Given the description of an element on the screen output the (x, y) to click on. 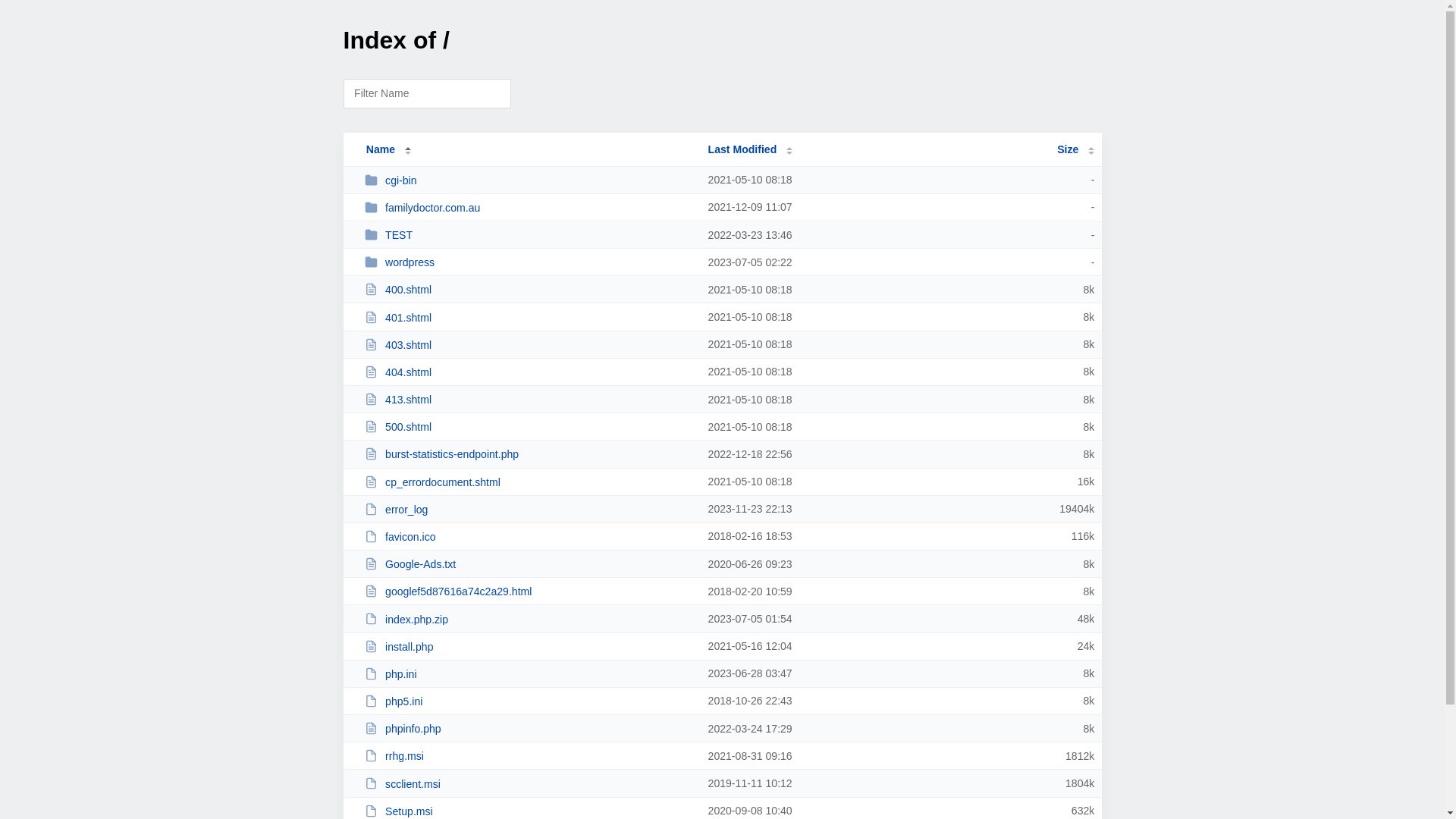
install.php Element type: text (529, 646)
cgi-bin Element type: text (529, 179)
favicon.ico Element type: text (529, 536)
500.shtml Element type: text (529, 426)
Setup.msi Element type: text (529, 810)
php5.ini Element type: text (529, 700)
TEST Element type: text (529, 234)
burst-statistics-endpoint.php Element type: text (529, 453)
familydoctor.com.au Element type: text (529, 206)
scclient.msi Element type: text (529, 783)
401.shtml Element type: text (529, 316)
wordpress Element type: text (529, 261)
403.shtml Element type: text (529, 344)
cp_errordocument.shtml Element type: text (529, 481)
phpinfo.php Element type: text (529, 727)
404.shtml Element type: text (529, 371)
Size Element type: text (1075, 149)
413.shtml Element type: text (529, 398)
rrhg.msi Element type: text (529, 755)
Google-Ads.txt Element type: text (529, 563)
php.ini Element type: text (529, 673)
400.shtml Element type: text (529, 288)
error_log Element type: text (529, 508)
index.php.zip Element type: text (529, 618)
Name Element type: text (380, 149)
Last Modified Element type: text (750, 149)
googlef5d87616a74c2a29.html Element type: text (529, 590)
